Given the description of an element on the screen output the (x, y) to click on. 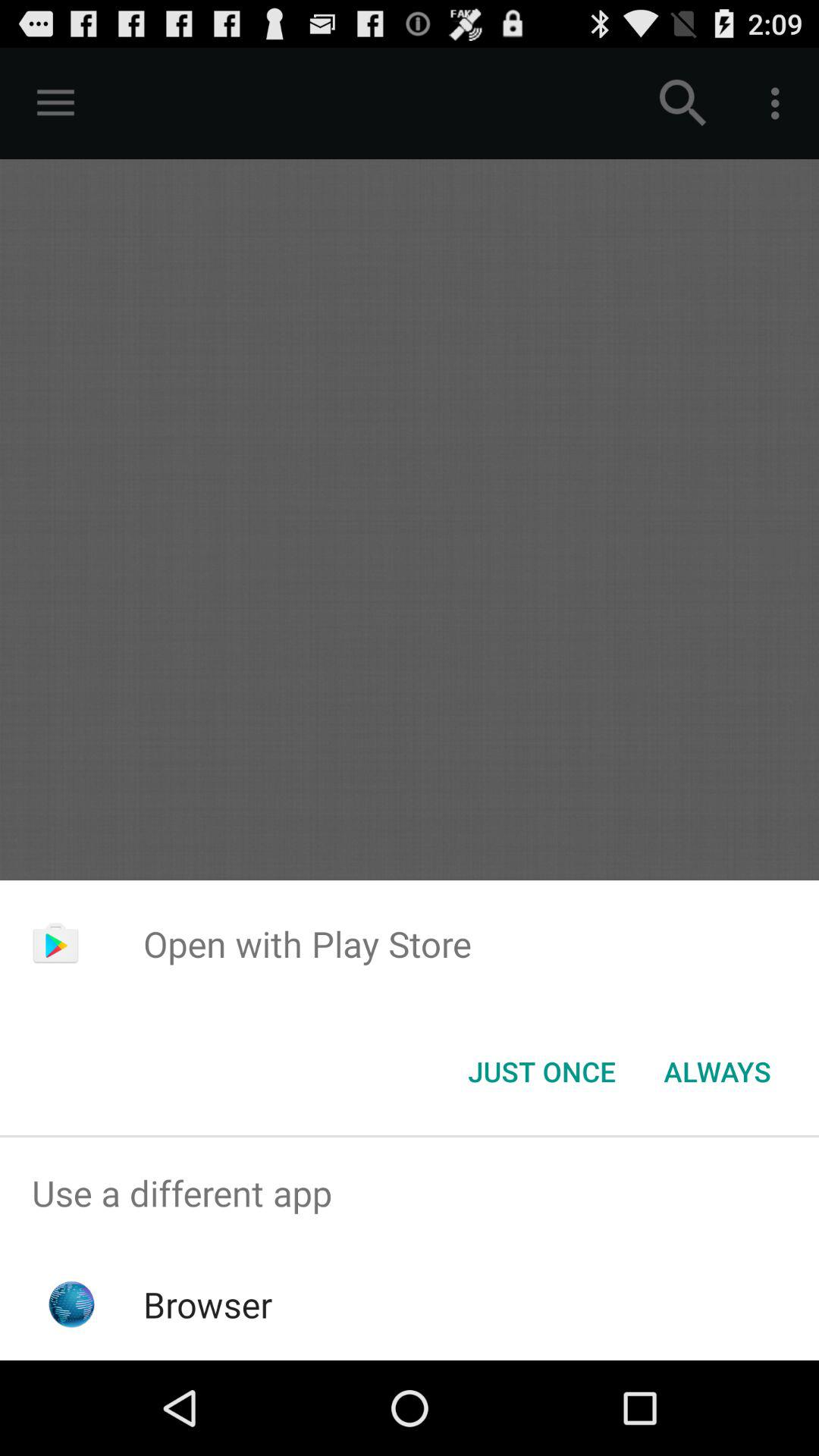
tap item next to always item (541, 1071)
